Given the description of an element on the screen output the (x, y) to click on. 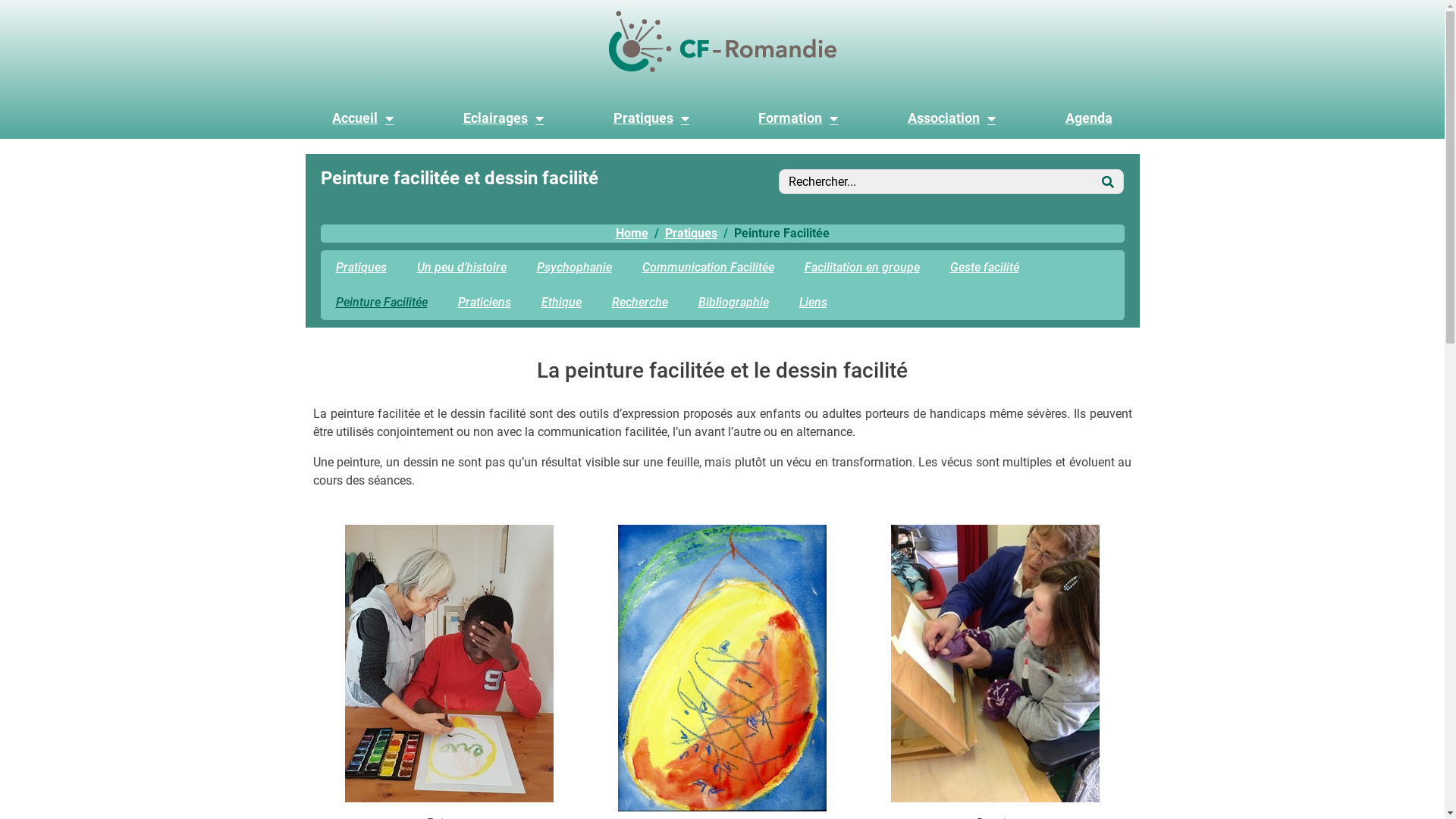
Recherche Element type: text (639, 302)
Liens Element type: text (813, 302)
Association Element type: text (951, 117)
Eclairages Element type: text (503, 117)
Accueil Element type: text (362, 117)
Formation Element type: text (798, 117)
Praticiens Element type: text (484, 302)
Psychophanie Element type: text (574, 267)
Pratiques Element type: text (360, 267)
Bibliographie Element type: text (732, 302)
Facilitation en groupe Element type: text (861, 267)
Home Element type: text (631, 232)
Pratiques Element type: text (651, 117)
Ethique Element type: text (561, 302)
Pratiques Element type: text (690, 232)
Agenda Element type: text (1088, 117)
